Given the description of an element on the screen output the (x, y) to click on. 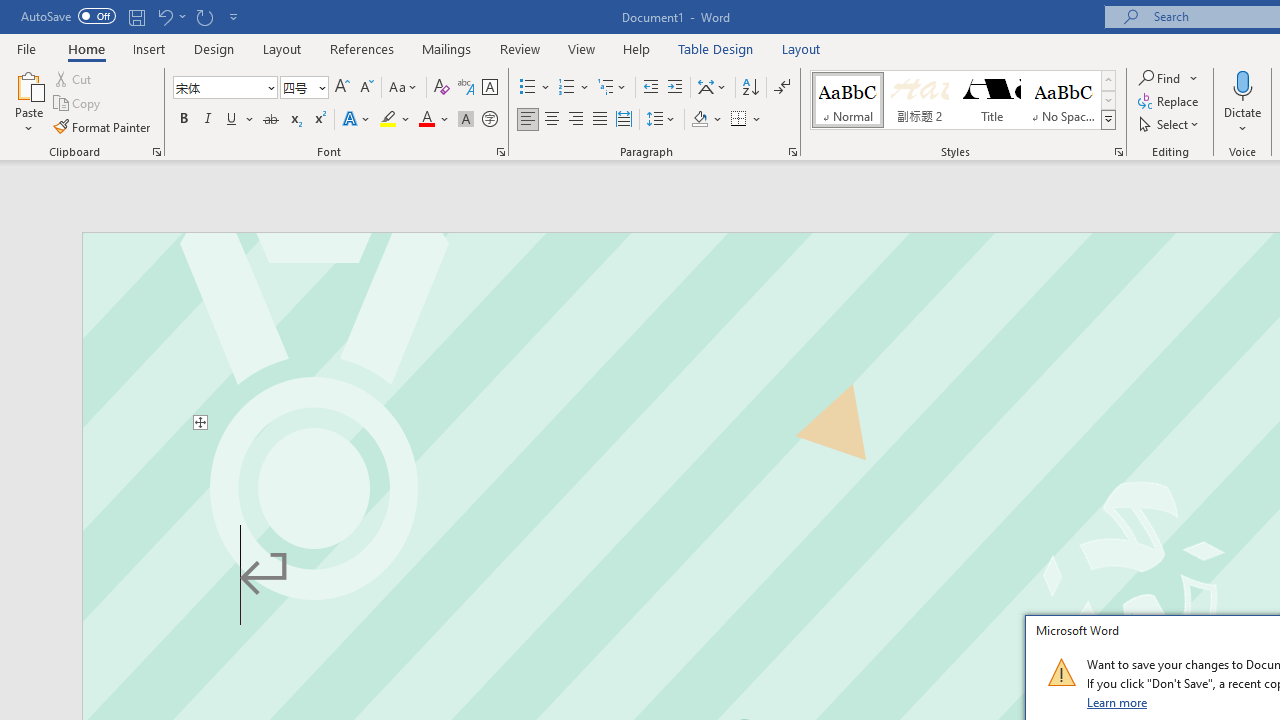
Learn more (1118, 702)
